Given the description of an element on the screen output the (x, y) to click on. 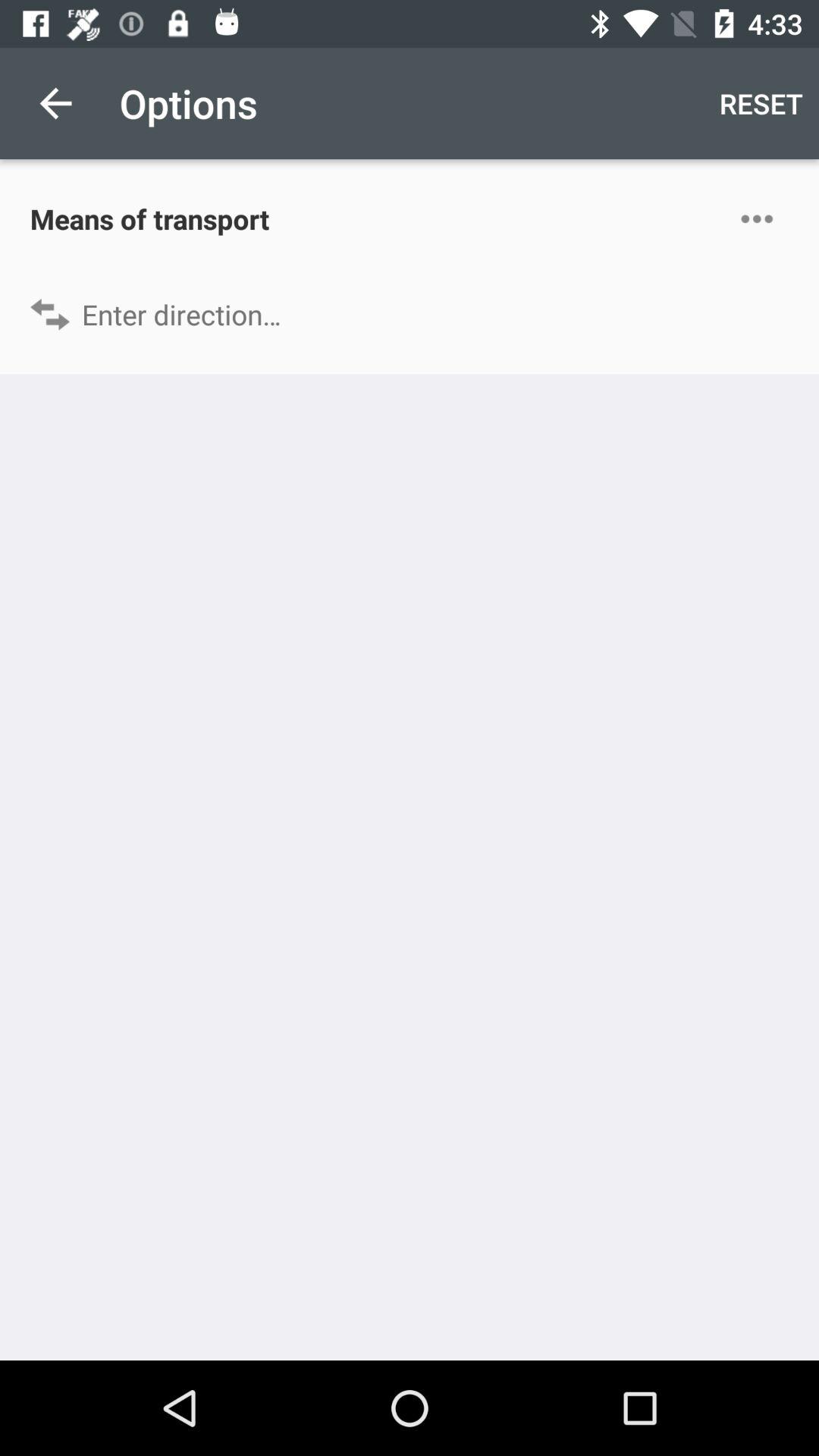
turn off the item at the top (409, 314)
